Given the description of an element on the screen output the (x, y) to click on. 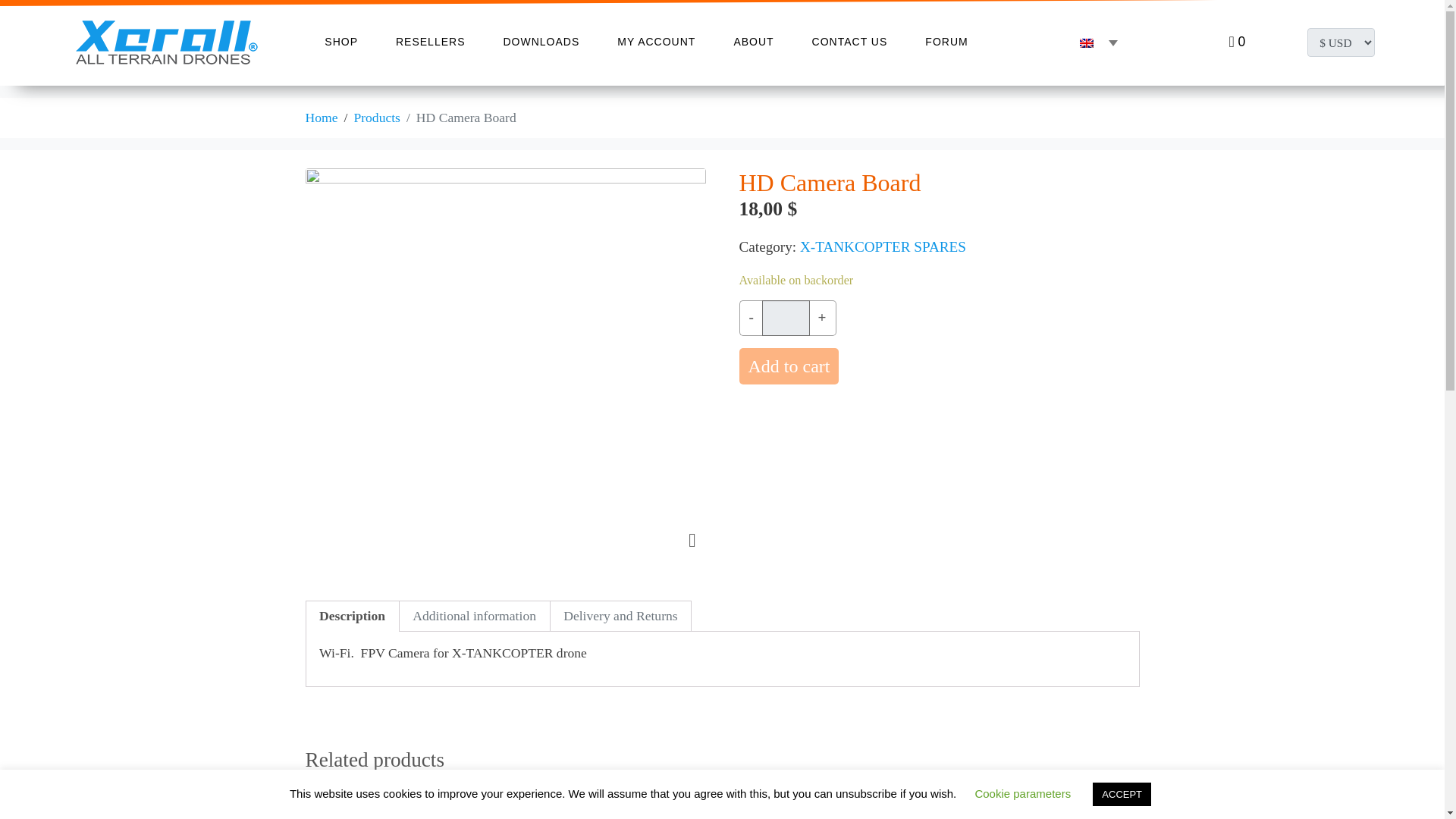
CONTACT US (849, 42)
ABOUT (753, 42)
Description (351, 615)
Products (376, 117)
X-TANKCOPTER-21c (691, 540)
RESELLERS (429, 42)
Home (320, 117)
X-TANKCOPTER SPARES (882, 246)
DOWNLOADS (541, 42)
FORUM (946, 42)
- (749, 317)
Add to cart (788, 366)
Additional information (473, 615)
Delivery and Returns (620, 615)
SHOP (340, 42)
